Given the description of an element on the screen output the (x, y) to click on. 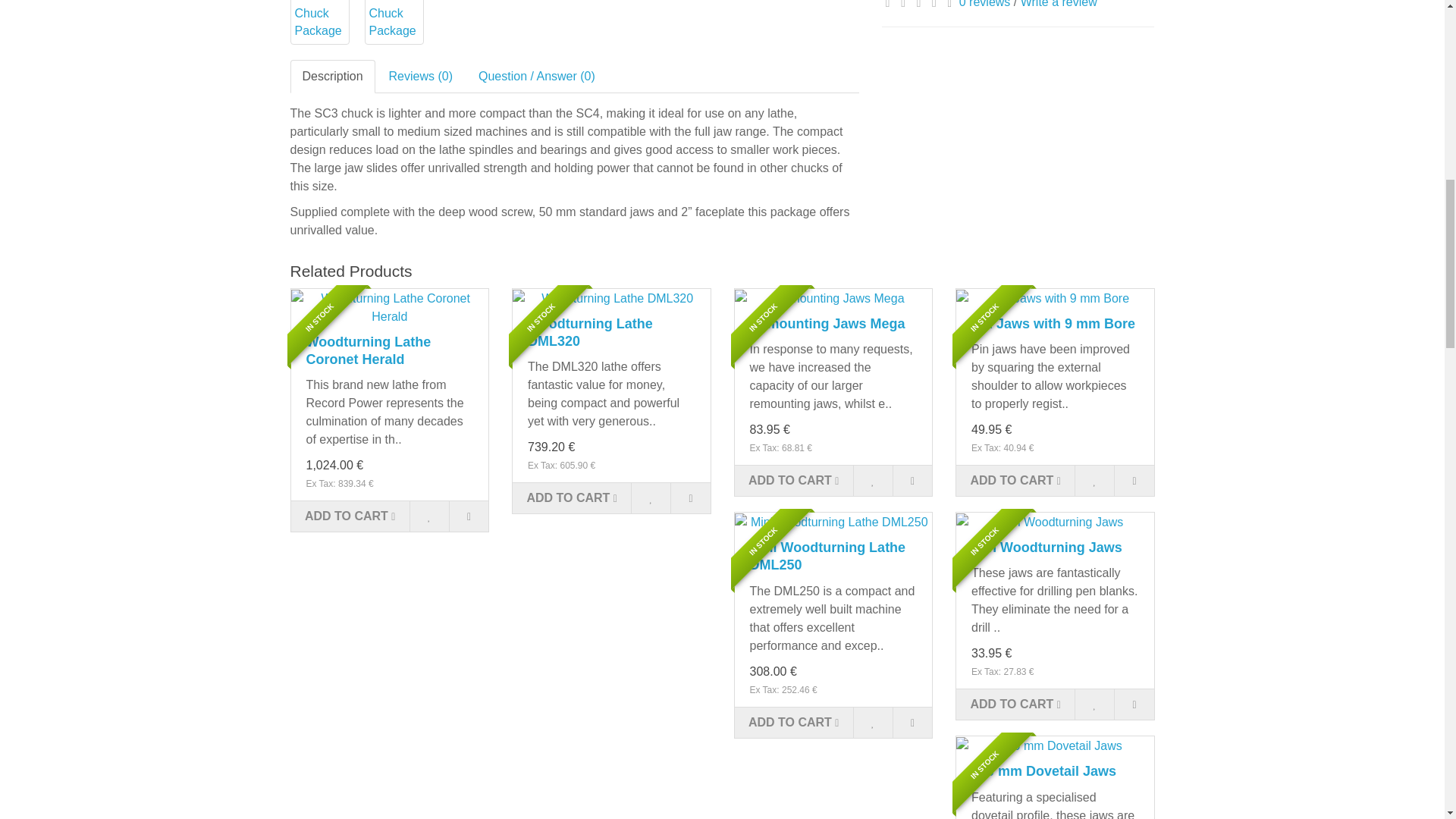
SC3 Geared Scroll Chuck Package (319, 22)
SC3 Geared Scroll Chuck Package (393, 19)
SC3 Geared Scroll Chuck Package (393, 22)
Woodturning Lathe Coronet Herald  (390, 307)
Add to Wish List (428, 516)
SC3 Geared Scroll Chuck Package (318, 19)
